Given the description of an element on the screen output the (x, y) to click on. 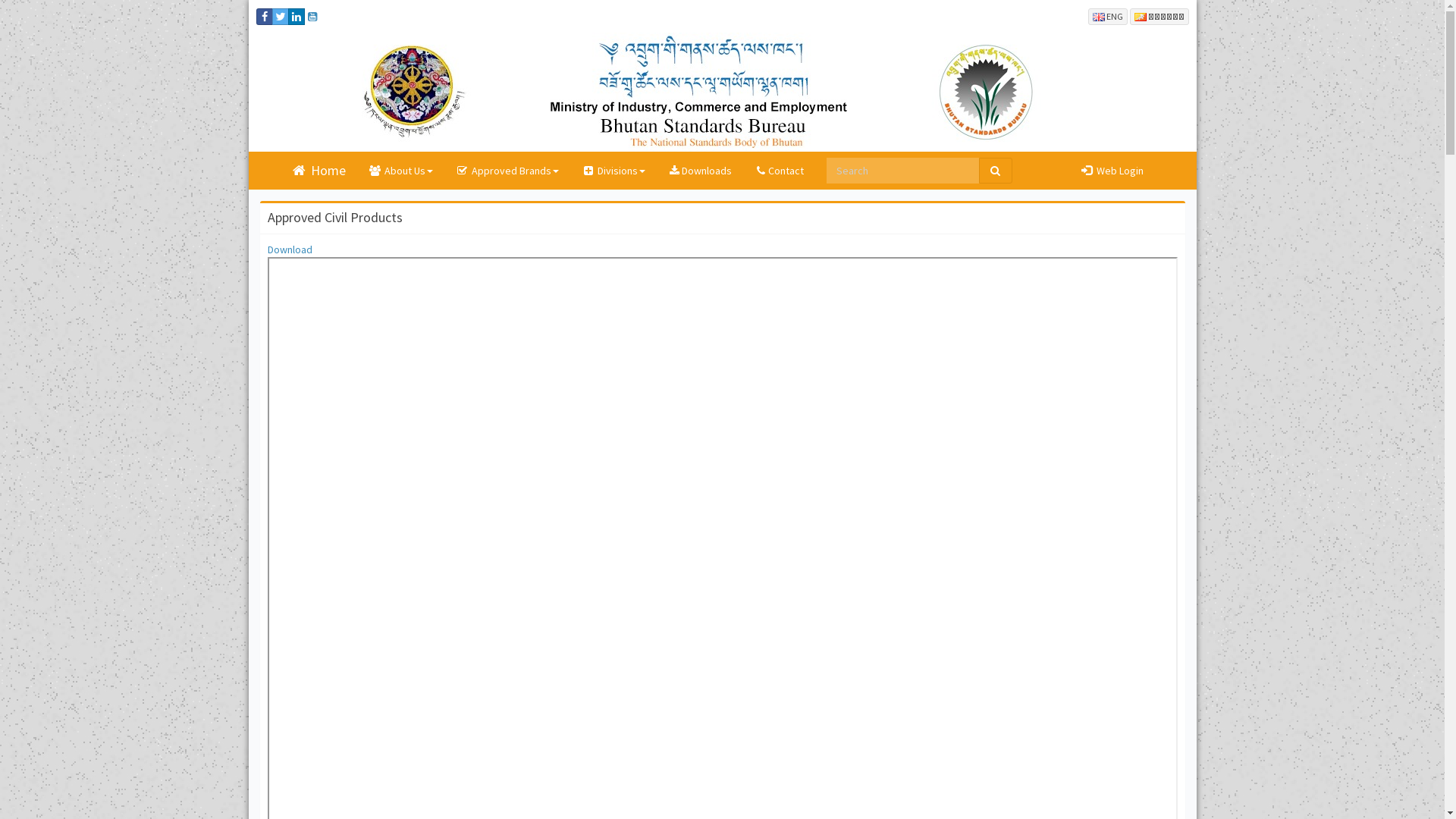
Downloads Element type: text (699, 170)
Contact Element type: text (779, 170)
  Web Login Element type: text (1111, 170)
Home Element type: text (318, 170)
Divisions Element type: text (613, 170)
ENG Element type: text (1106, 16)
Approved Brands Element type: text (507, 170)
Download Element type: text (288, 249)
ENG Element type: text (1106, 14)
About Us Element type: text (400, 170)
